Given the description of an element on the screen output the (x, y) to click on. 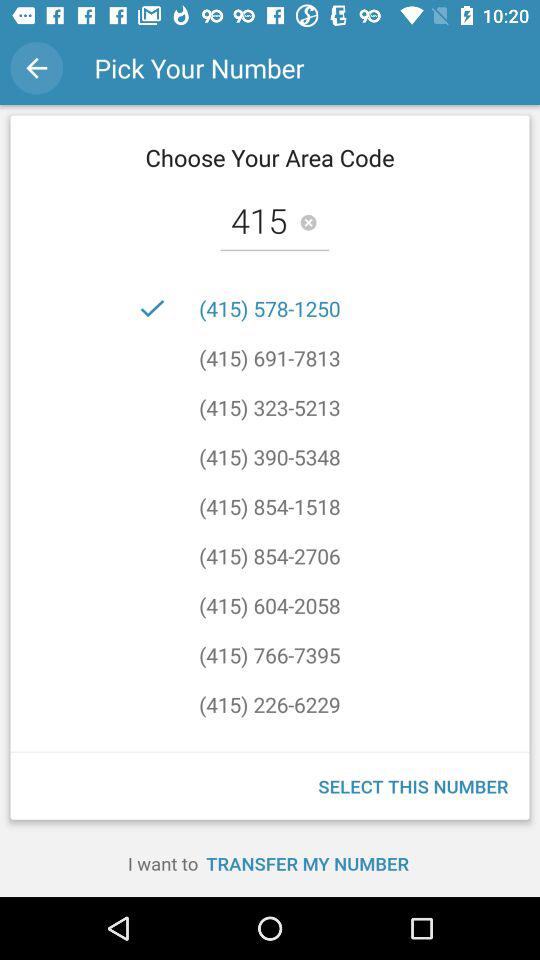
swipe to (415) 691-7813 item (269, 357)
